Given the description of an element on the screen output the (x, y) to click on. 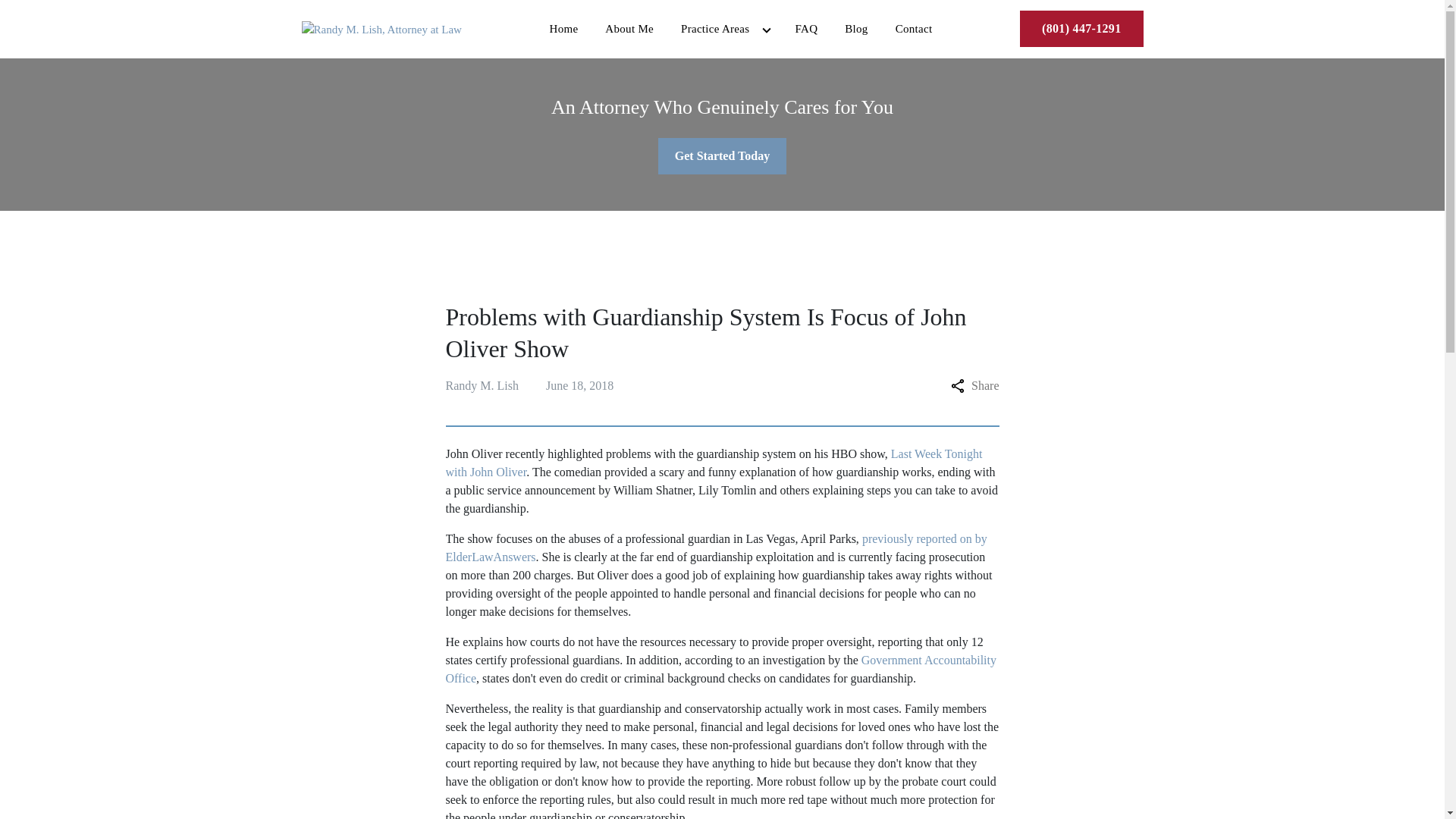
About Me (628, 29)
Get Started Today (722, 156)
Last Week Tonight with John Oliver (713, 462)
Home (563, 29)
Share (974, 385)
Practice Areas (707, 29)
FAQ (805, 29)
previously reported on by ElderLawAnswers (716, 547)
Contact (914, 29)
Government Accountability Office (720, 668)
Blog (855, 29)
